Given the description of an element on the screen output the (x, y) to click on. 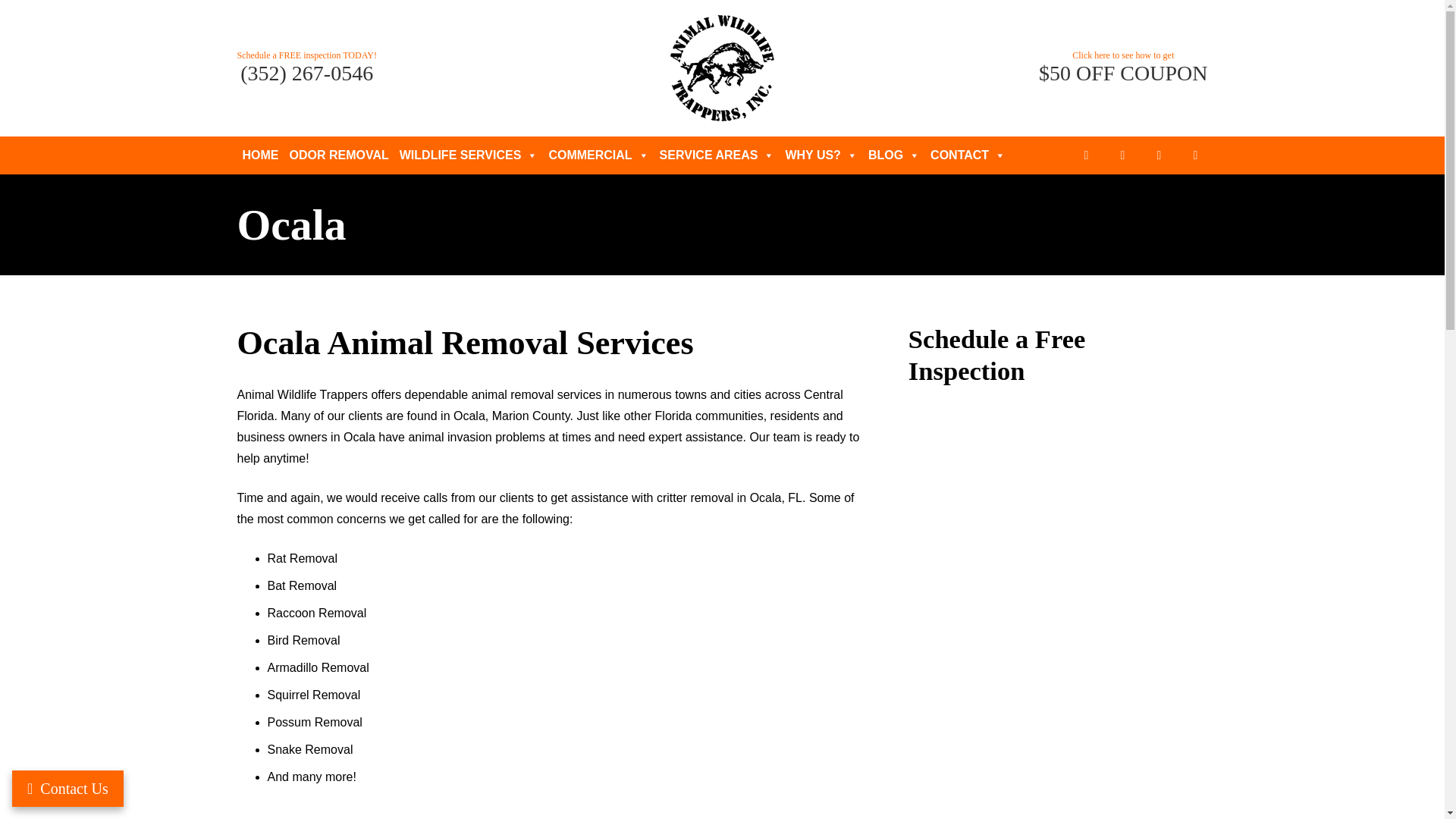
WILDLIFE SERVICES (468, 155)
ODOR REMOVAL (338, 155)
Google (1195, 155)
HOME (259, 155)
COMMERCIAL (598, 155)
Blog Page Template (67, 788)
YouTube (1159, 155)
SERVICE AREAS (716, 155)
LinkedIn (1122, 155)
Facebook (1086, 155)
